Given the description of an element on the screen output the (x, y) to click on. 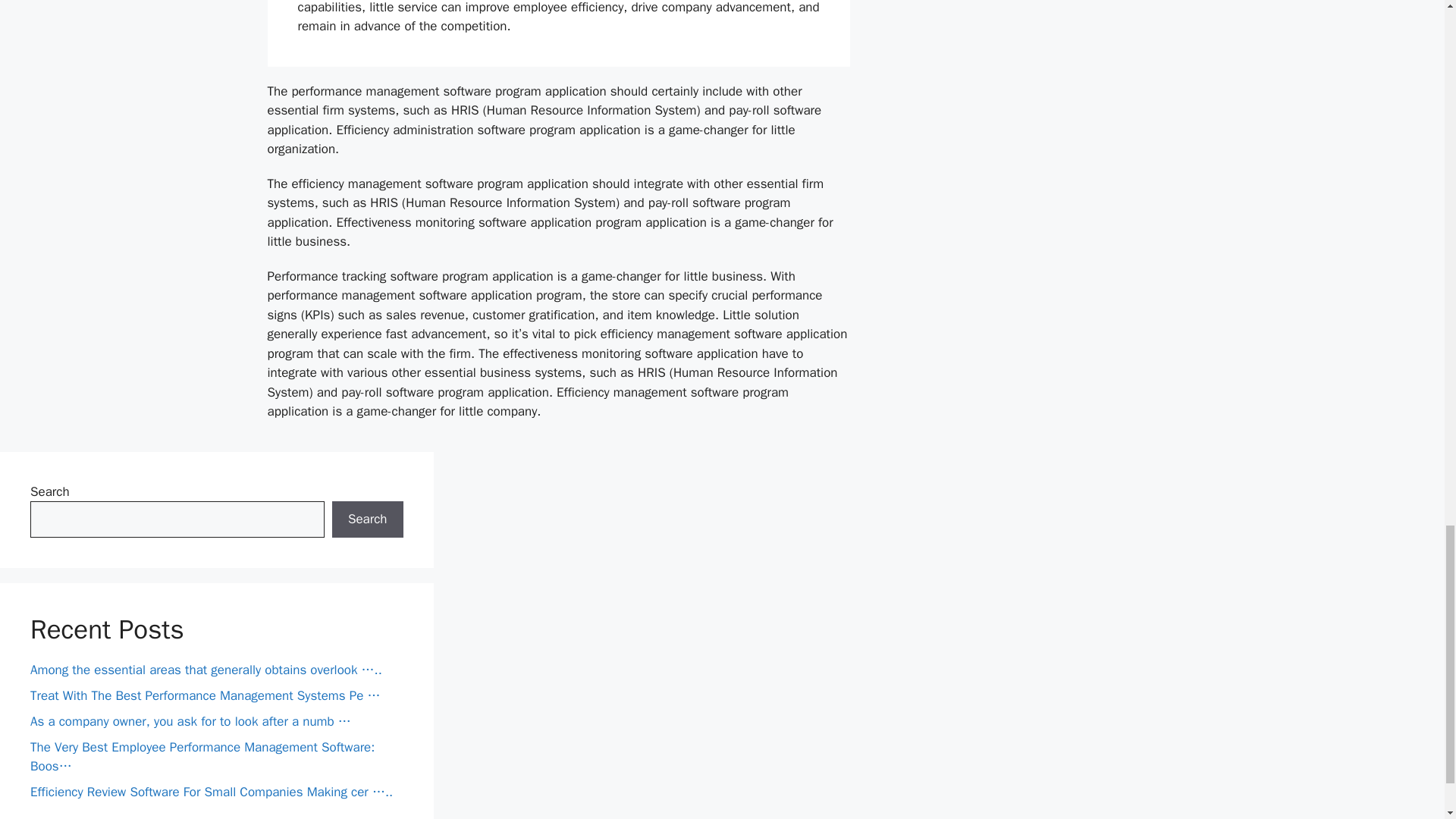
Search (367, 519)
